Given the description of an element on the screen output the (x, y) to click on. 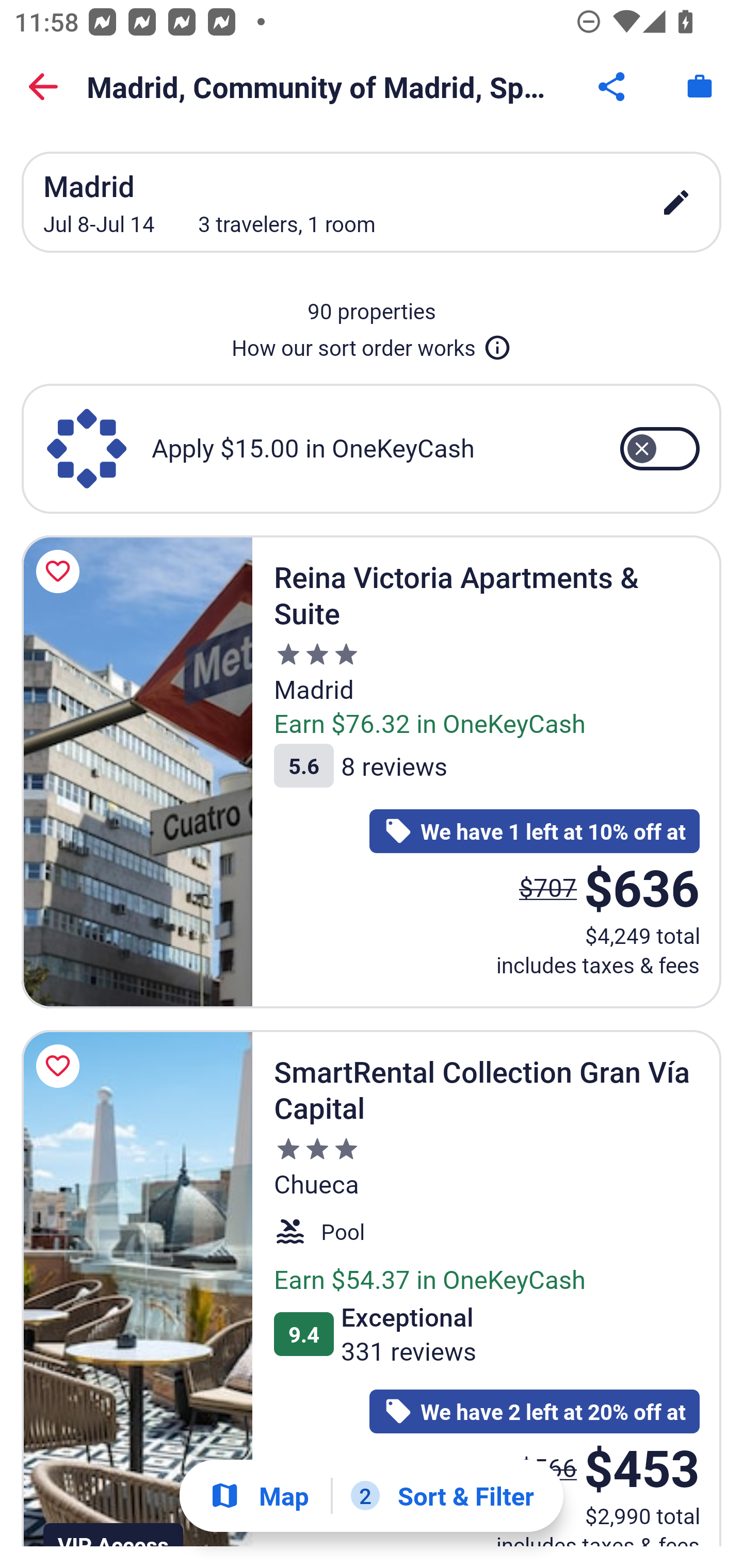
Back (43, 86)
Share Button (612, 86)
Trips. Button (699, 86)
Madrid Jul 8-Jul 14 3 travelers, 1 room edit (371, 202)
How our sort order works (371, 344)
Save Reina Victoria Apartments & Suite to a trip (61, 571)
Reina Victoria Apartments & Suite (136, 771)
$707 The price was $707 (547, 886)
SmartRental Collection Gran Vía Capital (136, 1288)
2 Sort & Filter 2 Filters applied. Filters Button (442, 1495)
Show map Map Show map Button (258, 1495)
